Given the description of an element on the screen output the (x, y) to click on. 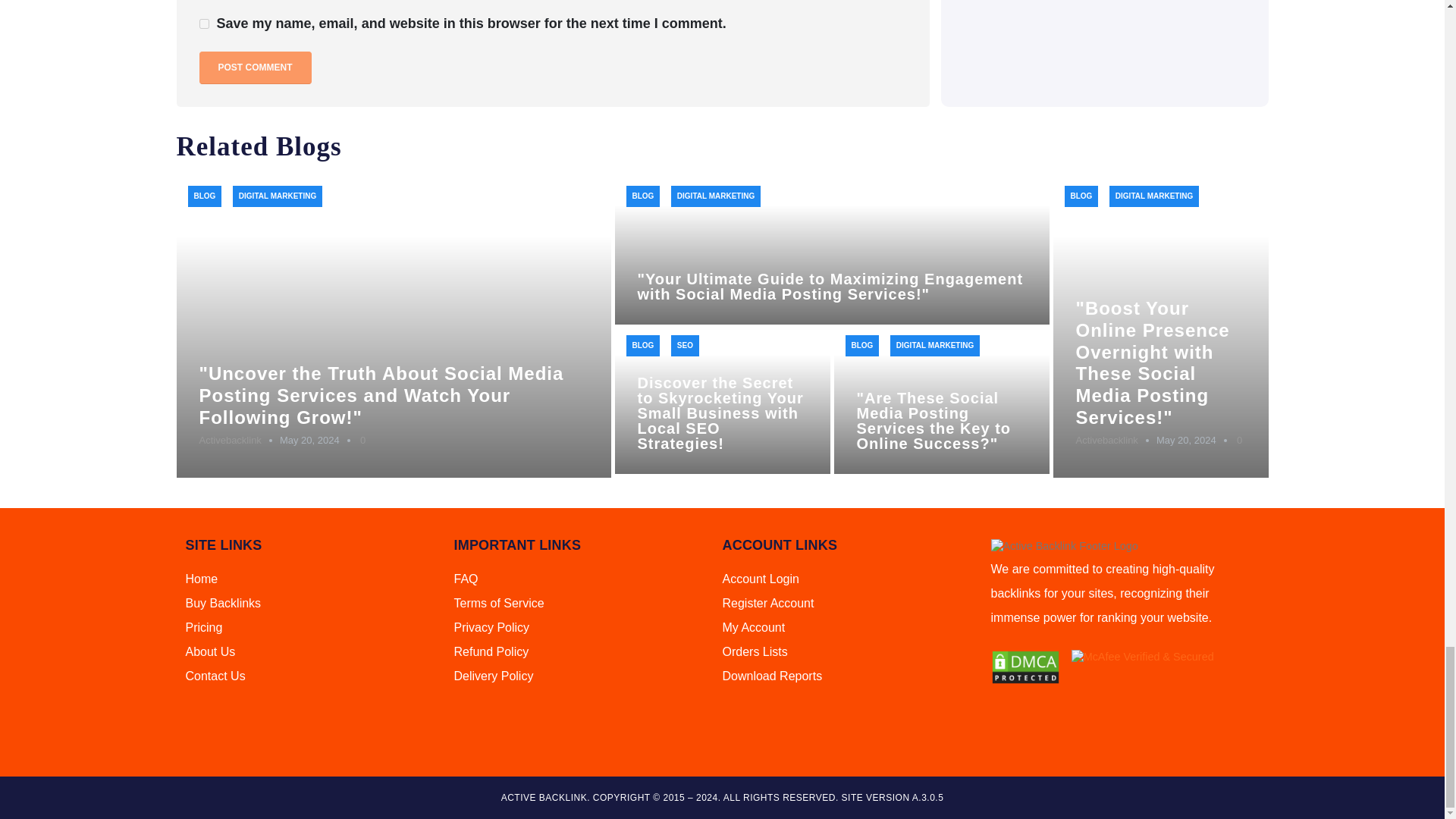
Post Comment (254, 67)
yes (203, 23)
